Given the description of an element on the screen output the (x, y) to click on. 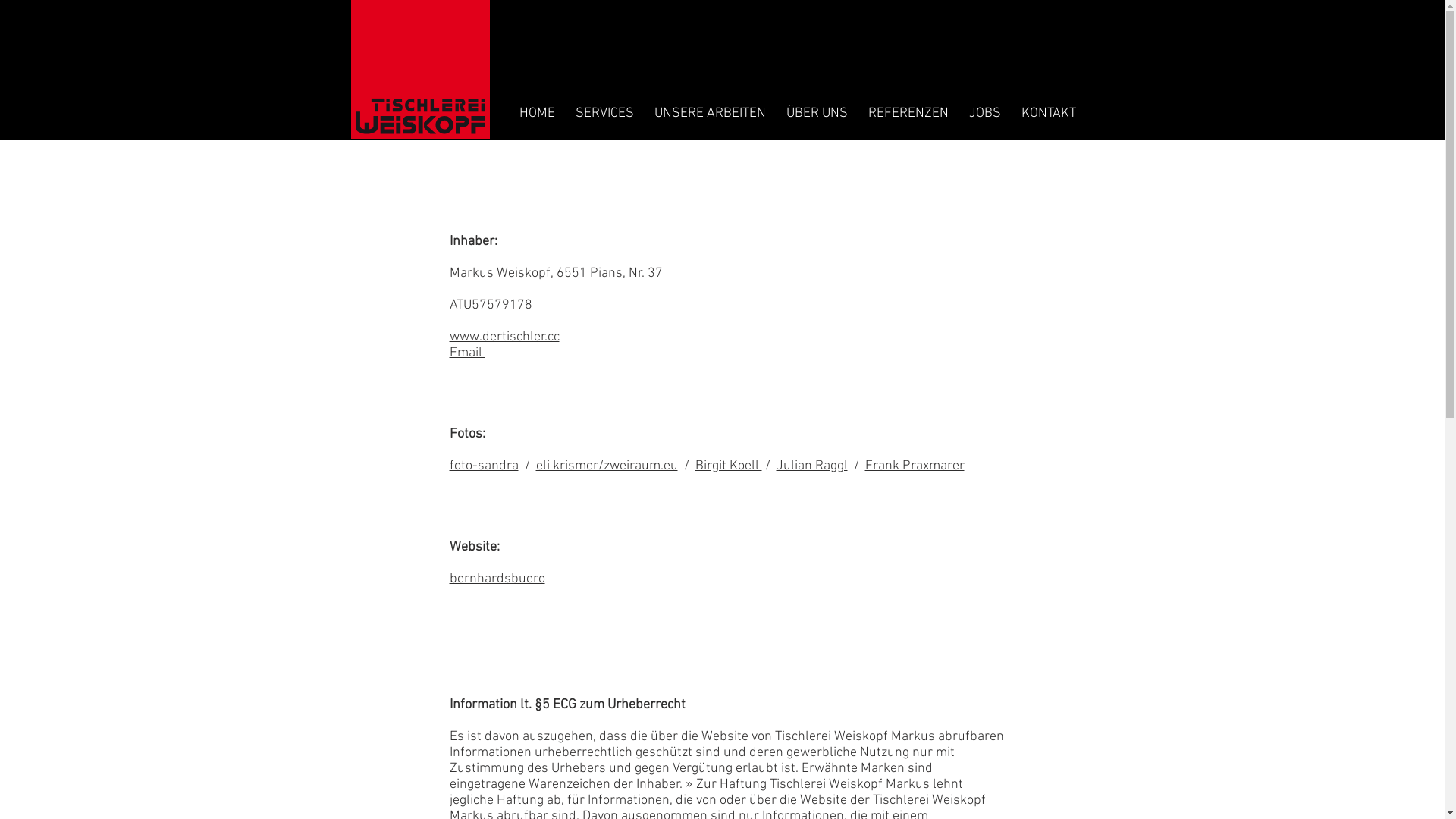
Birgit Koell  Element type: text (727, 465)
foto-sandra Element type: text (482, 465)
Email  Element type: text (466, 352)
KONTAKT Element type: text (1048, 112)
www.dertischler.cc Element type: text (503, 337)
Frank Praxmarer Element type: text (913, 465)
SERVICES Element type: text (604, 112)
bernhardsbuero Element type: text (496, 578)
eli krismer/zweiraum.eu Element type: text (606, 465)
Julian Raggl Element type: text (811, 465)
JOBS Element type: text (984, 112)
UNSERE ARBEITEN Element type: text (710, 112)
REFERENZEN Element type: text (908, 112)
HOME Element type: text (537, 112)
